Given the description of an element on the screen output the (x, y) to click on. 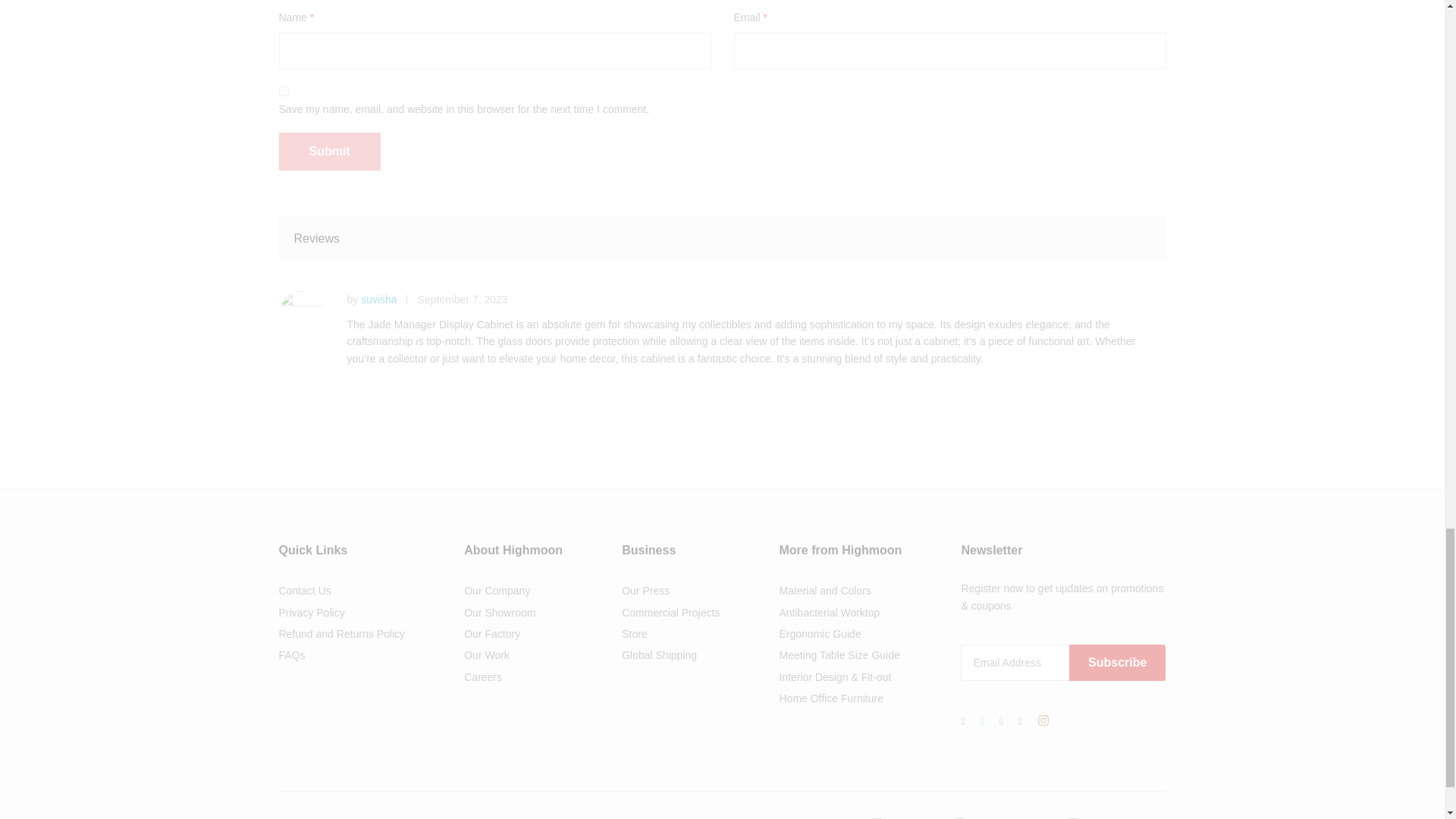
Instagram (1043, 721)
Subscribe (1117, 662)
Submit (329, 151)
Twitter (981, 720)
Linkedin (1019, 720)
Facebook (962, 720)
yes (283, 91)
Youtube (1000, 720)
